Given the description of an element on the screen output the (x, y) to click on. 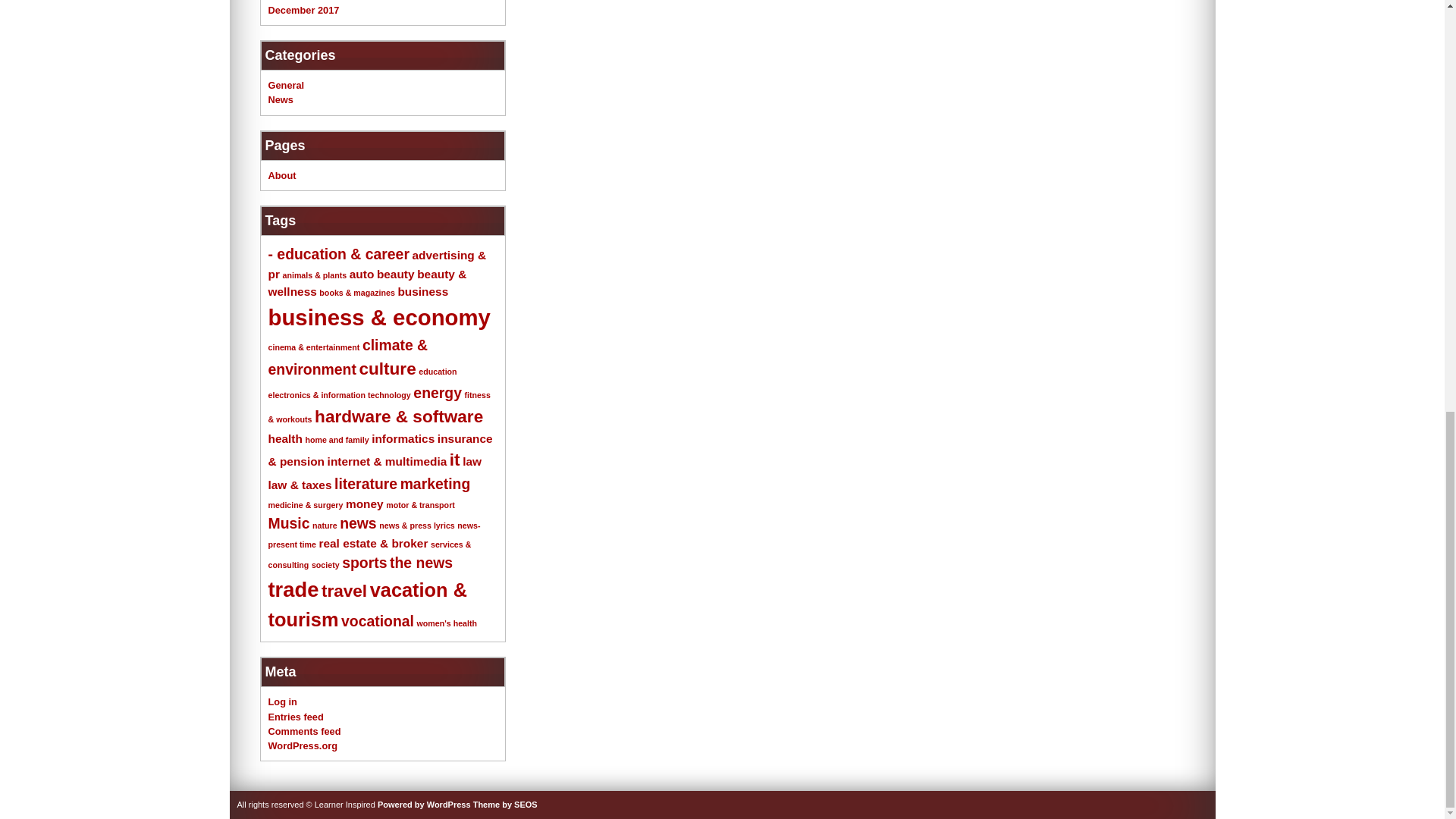
Seos free wordpress themes (505, 804)
